Given the description of an element on the screen output the (x, y) to click on. 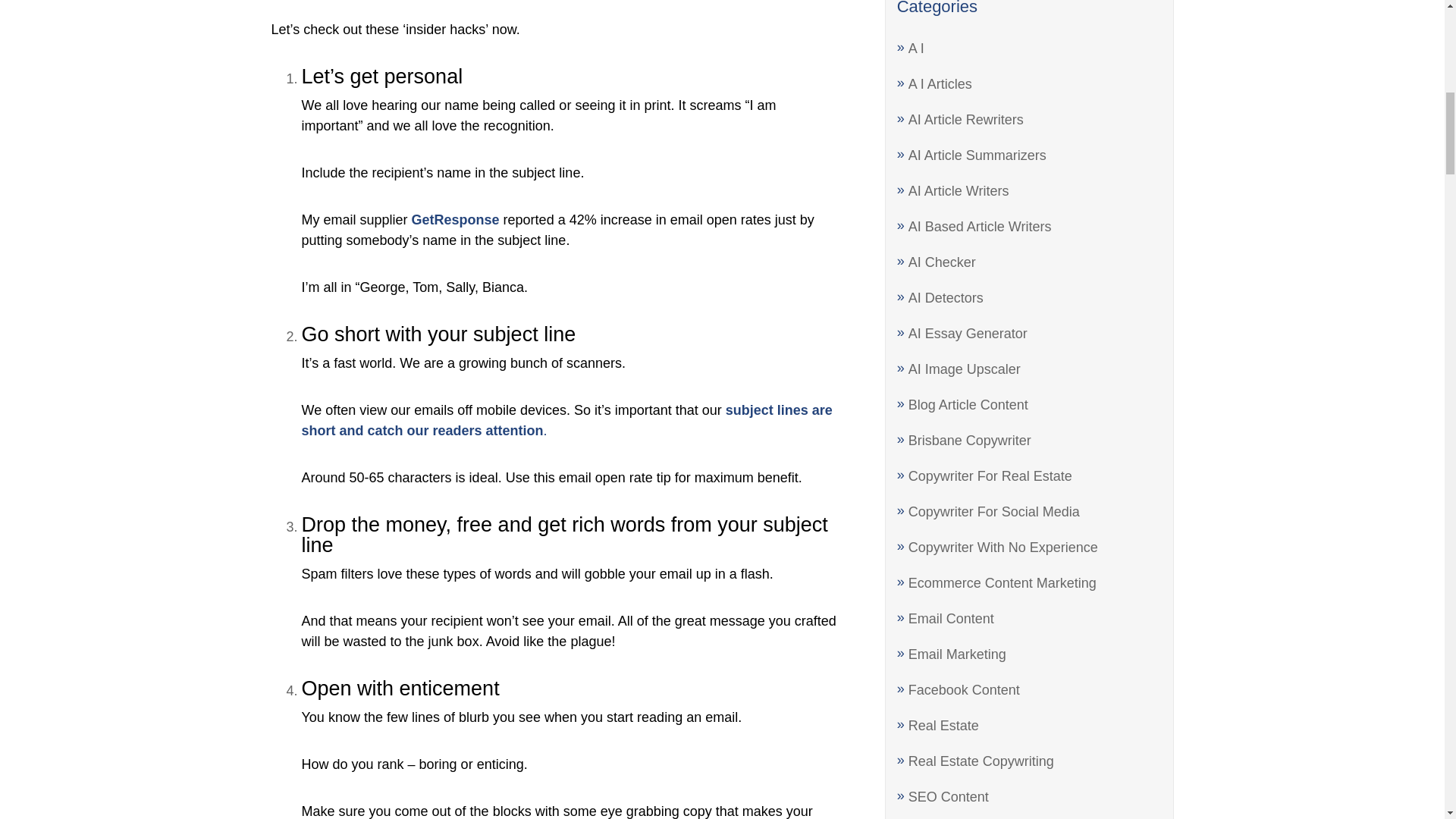
Ecommerce Content Marketing (1002, 582)
AI Article Writers (958, 191)
A I (916, 48)
Brisbane Copywriter (969, 440)
AI Image Upscaler (964, 368)
Email Content (951, 618)
AI Essay Generator (967, 333)
AI Checker (941, 262)
Copywriter For Social Media (994, 511)
Blog Article Content (967, 404)
AI Article Summarizers (977, 155)
AI Article Rewriters (965, 119)
AI Detectors (946, 297)
A I Articles (940, 83)
Copywriter With No Experience (1002, 547)
